Given the description of an element on the screen output the (x, y) to click on. 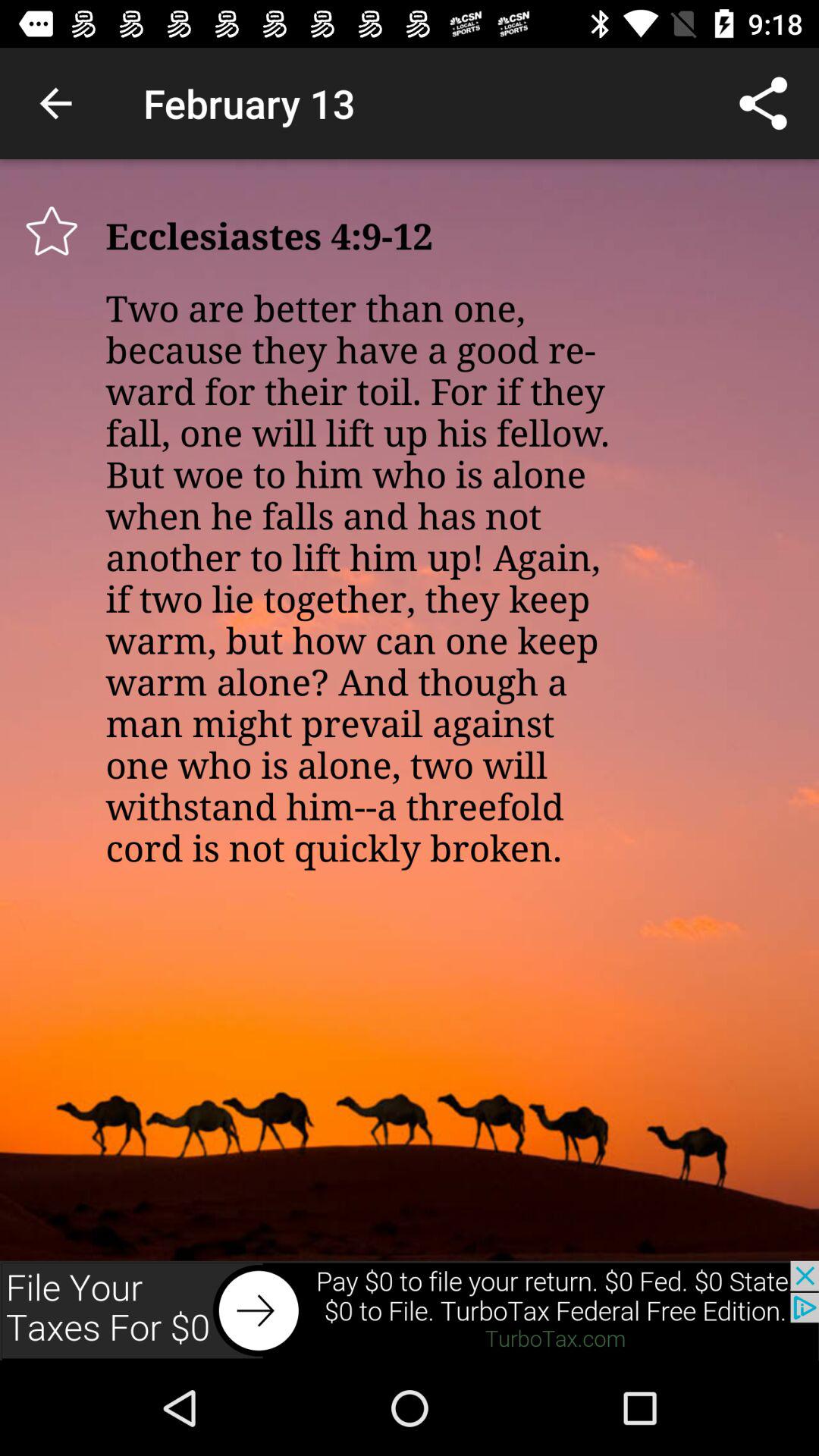
add to favorites (51, 230)
